Given the description of an element on the screen output the (x, y) to click on. 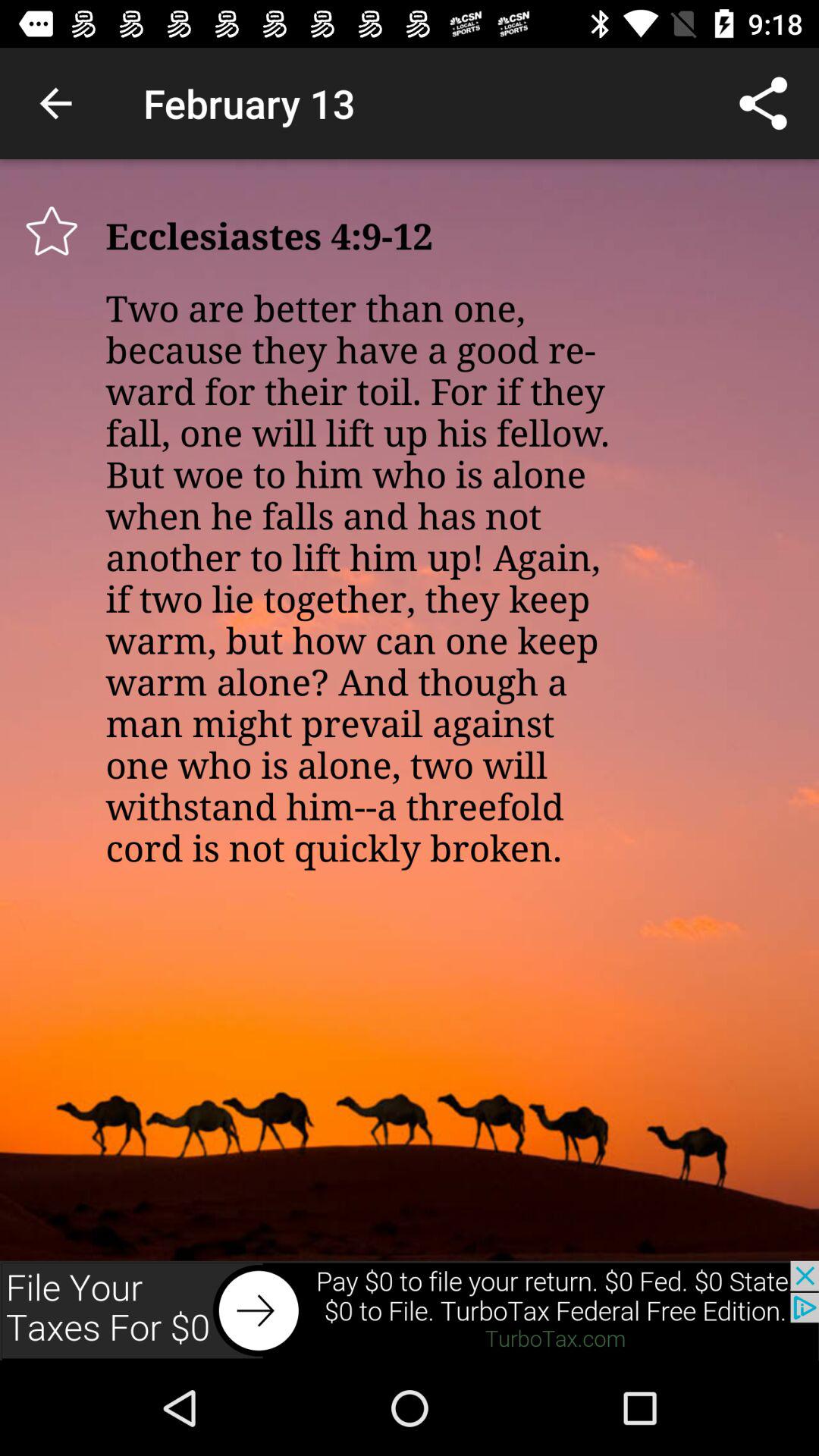
add to favorites (51, 230)
